Given the description of an element on the screen output the (x, y) to click on. 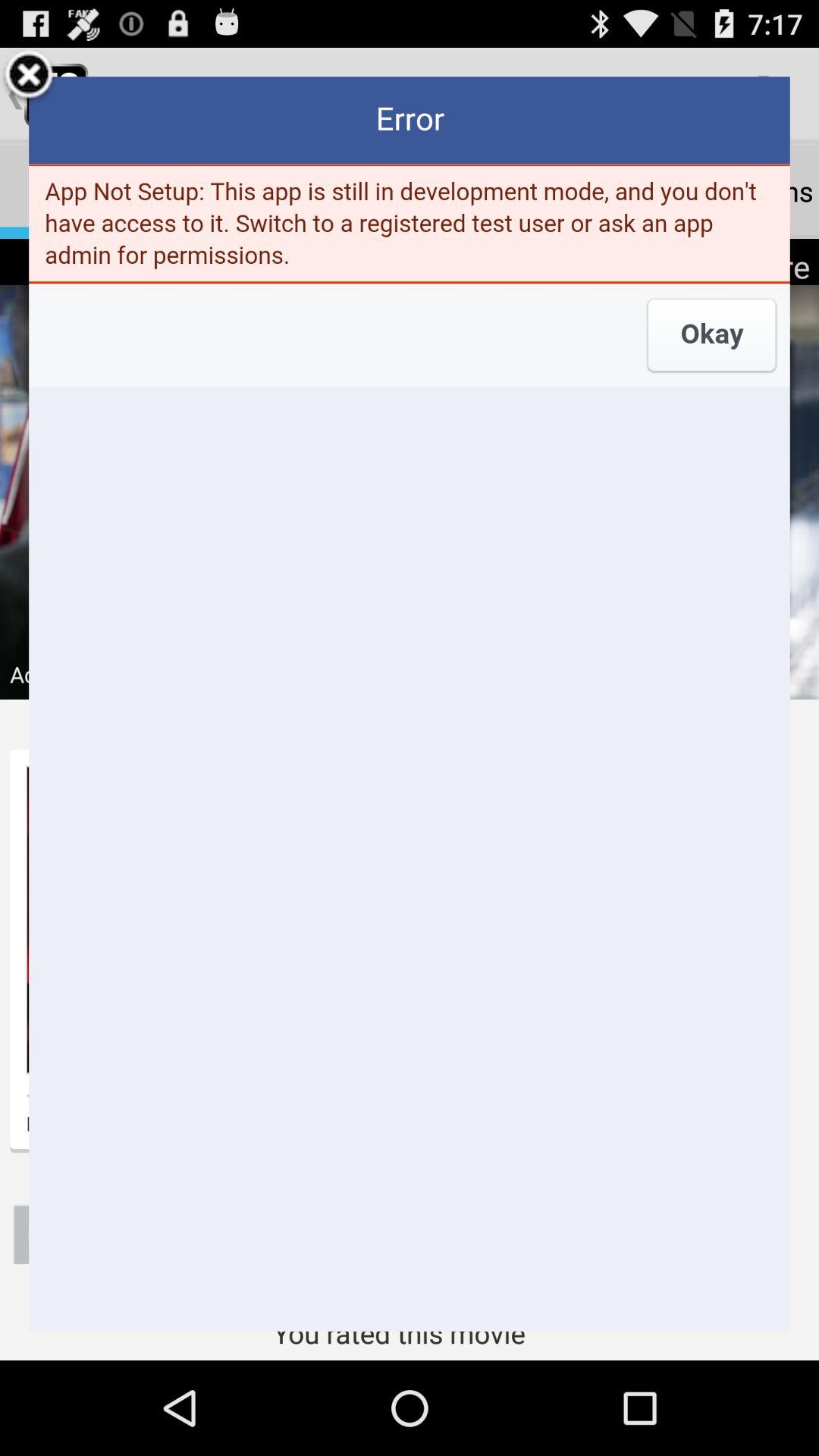
click the cross (29, 76)
